Given the description of an element on the screen output the (x, y) to click on. 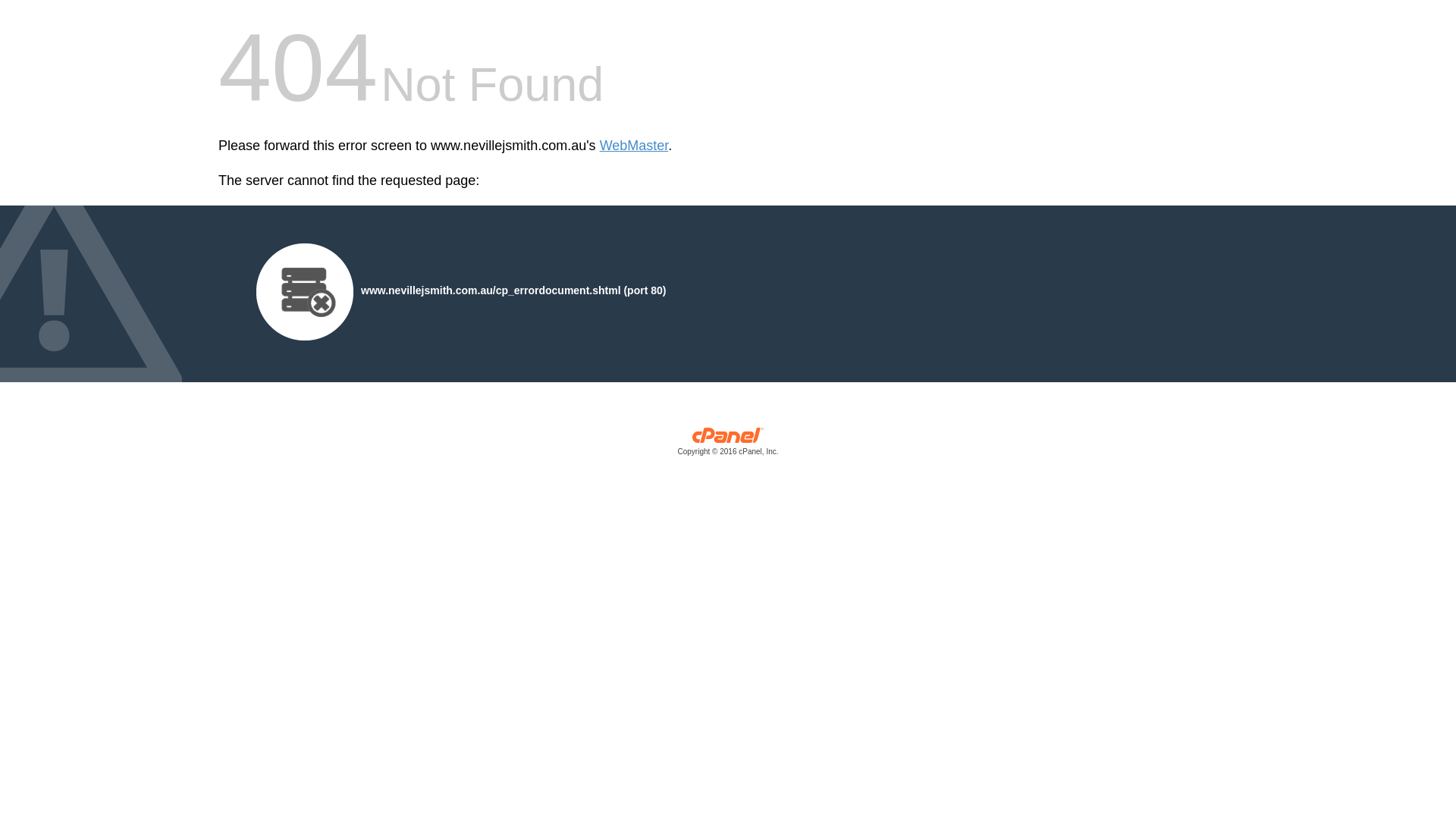
WebMaster Element type: text (633, 145)
